Given the description of an element on the screen output the (x, y) to click on. 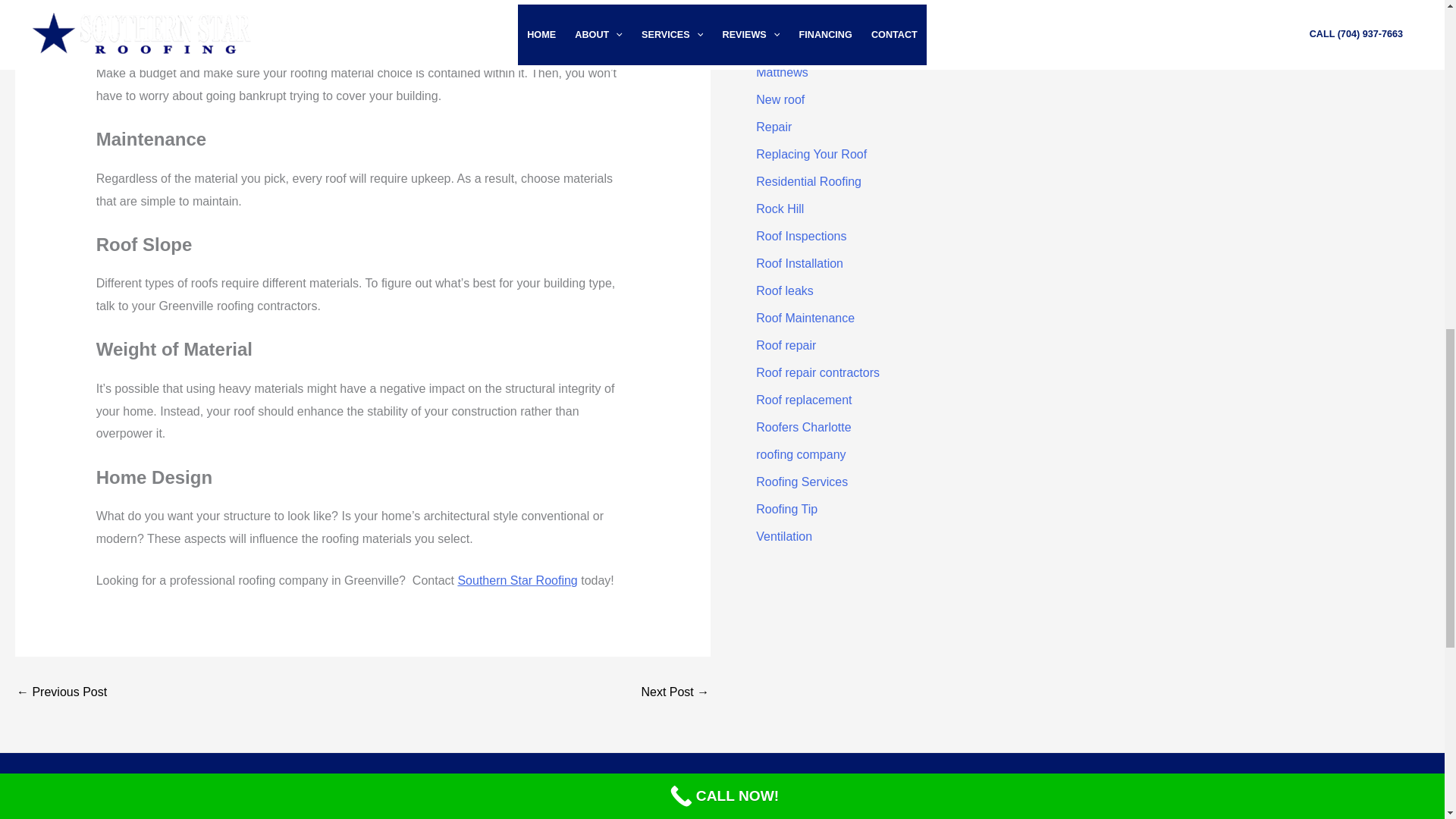
How to choose the right roofing contractor in Asheville? (61, 692)
More on Roofing Materials! (674, 692)
